Given the description of an element on the screen output the (x, y) to click on. 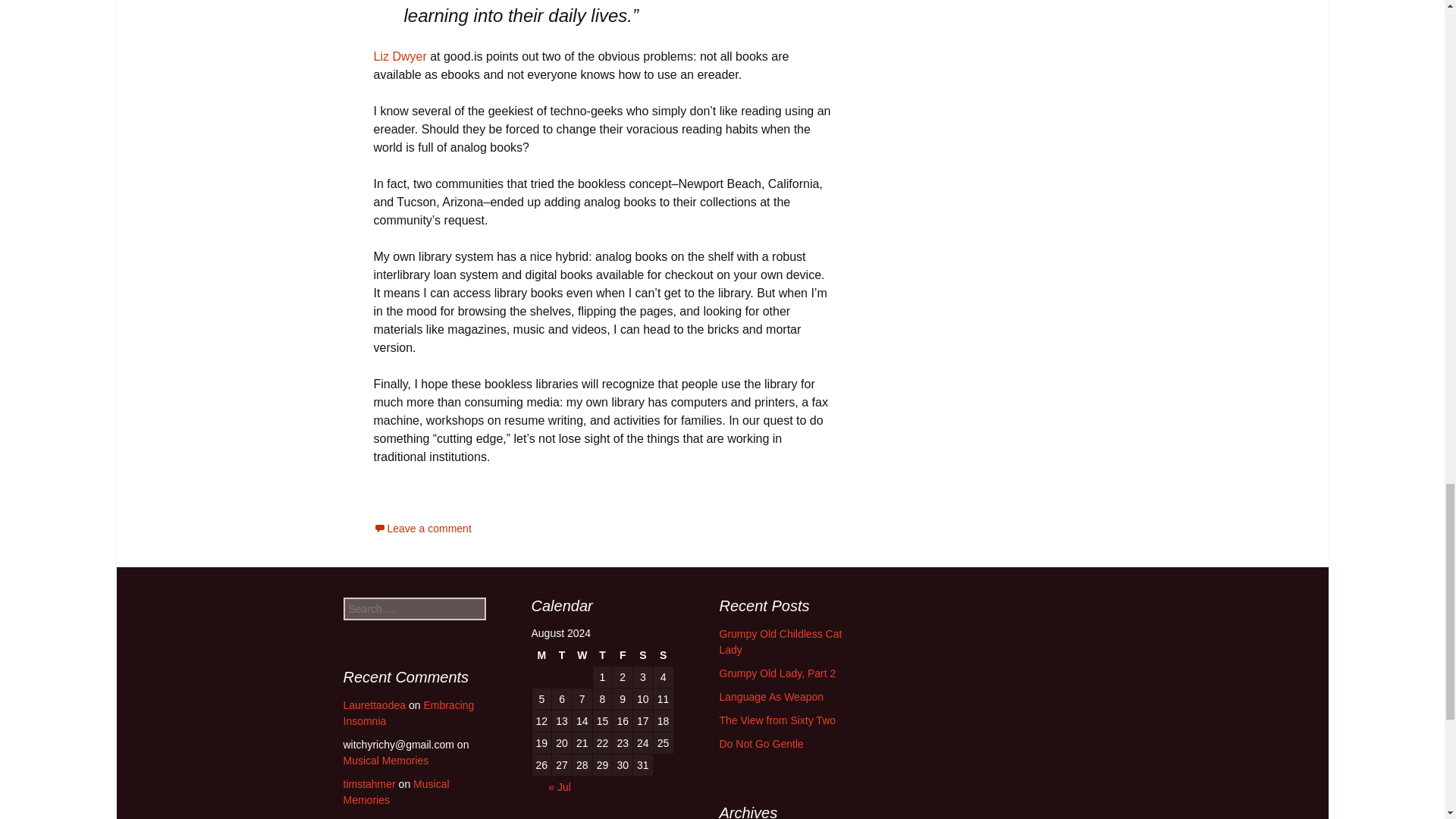
Tuesday (561, 654)
Friday (621, 654)
Grumpy Old Lady, Part 2 (777, 673)
Monday (541, 654)
The View from Sixty Two (777, 720)
Language As Weapon (771, 696)
Grumpy Old Childless Cat Lady (780, 642)
Leave a comment (421, 528)
Thursday (602, 654)
Sunday (662, 654)
